Given the description of an element on the screen output the (x, y) to click on. 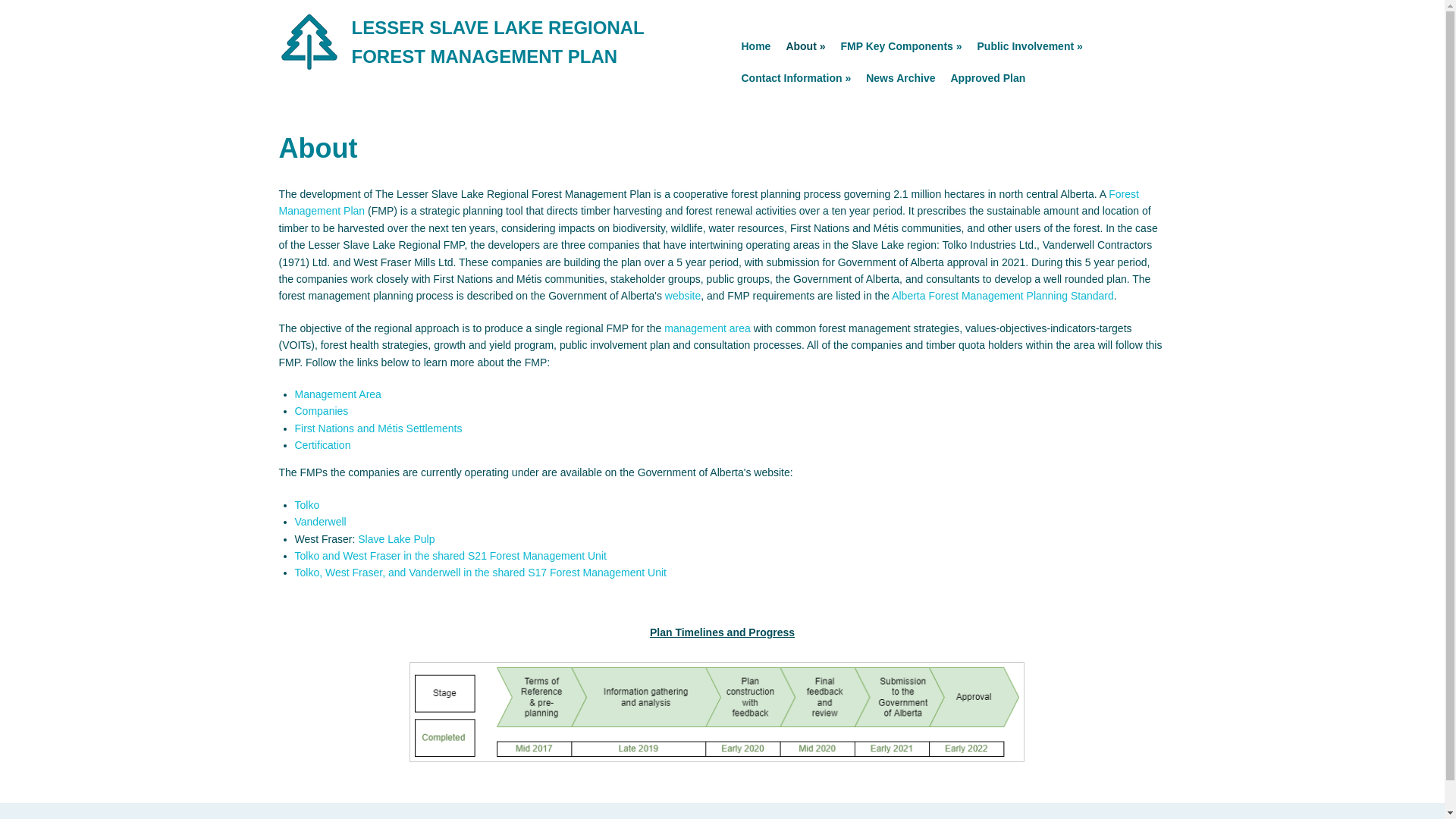
Vanderwell (320, 521)
Management Area (337, 394)
Companies (320, 410)
News Archive (900, 78)
Forest Management Plan (708, 202)
Tolko (306, 504)
Home (755, 46)
Home (498, 41)
Certification (322, 444)
Slave Lake Pulp (395, 539)
Approved Plan (988, 78)
Home (309, 69)
management area (707, 328)
LESSER SLAVE LAKE REGIONAL FOREST MANAGEMENT PLAN (498, 41)
